Given the description of an element on the screen output the (x, y) to click on. 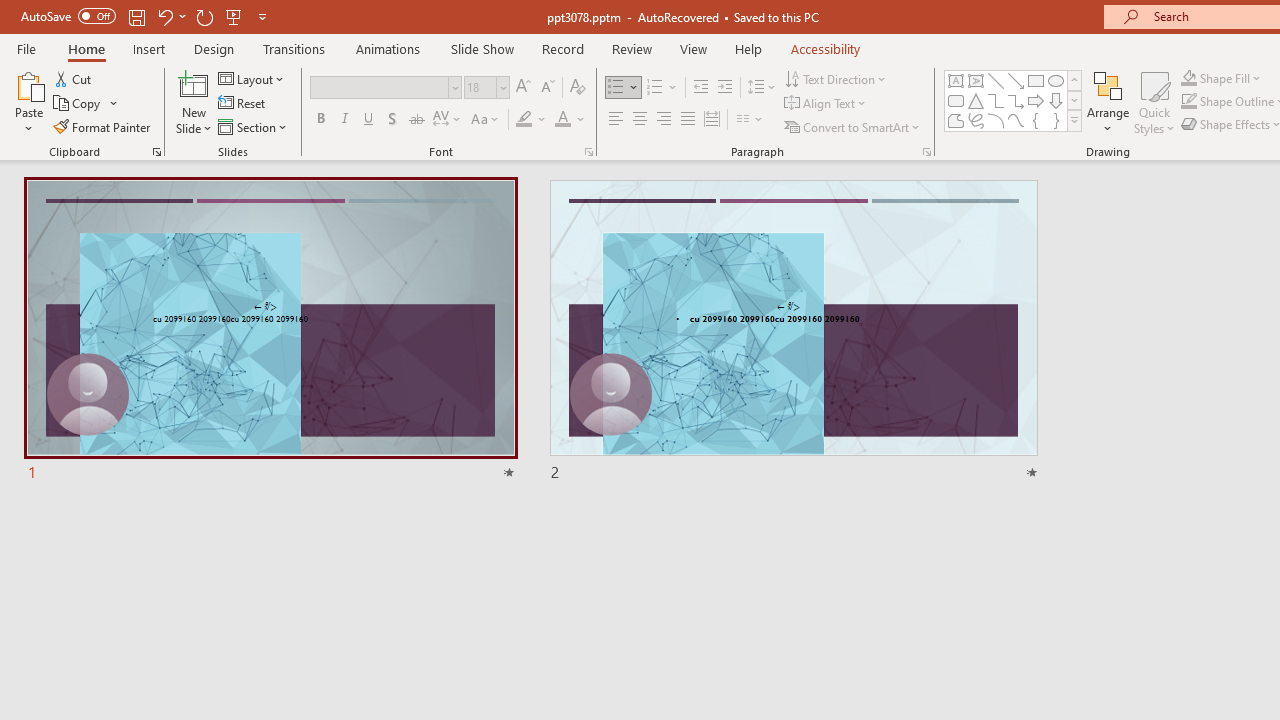
Shapes (1074, 120)
Vertical Text Box (975, 80)
Connector: Elbow (995, 100)
Line (995, 80)
Text Box (955, 80)
Isosceles Triangle (975, 100)
Connector: Elbow Arrow (1016, 100)
Bold (320, 119)
Shape Fill (1221, 78)
